Given the description of an element on the screen output the (x, y) to click on. 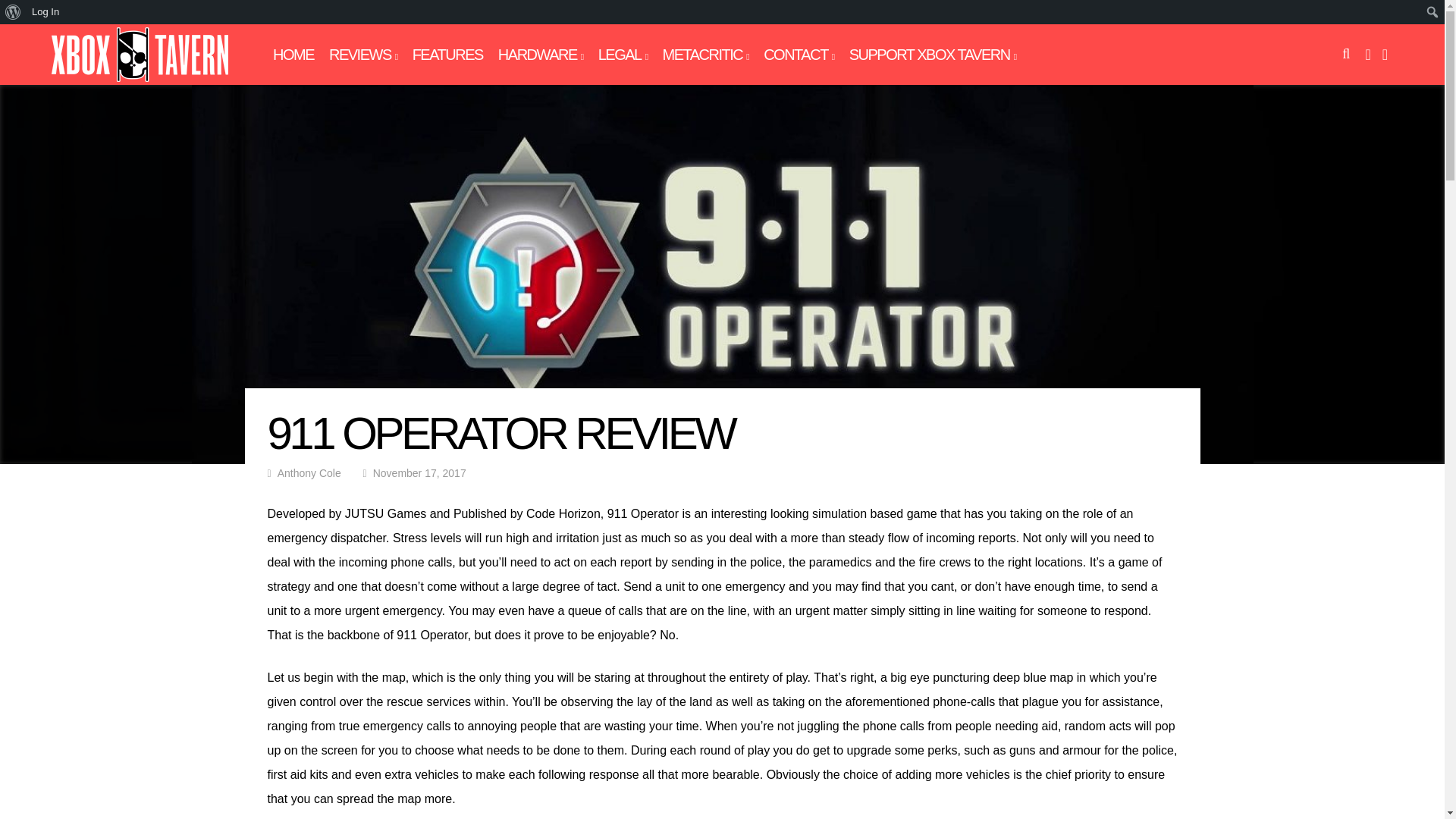
CONTACT (798, 54)
LEGAL (622, 54)
SUPPORT XBOX TAVERN (932, 54)
FEATURES (447, 54)
Xbox Tavern (139, 78)
REVIEWS (363, 54)
METACRITIC (705, 54)
HARDWARE (540, 54)
HOME (293, 54)
